Given the description of an element on the screen output the (x, y) to click on. 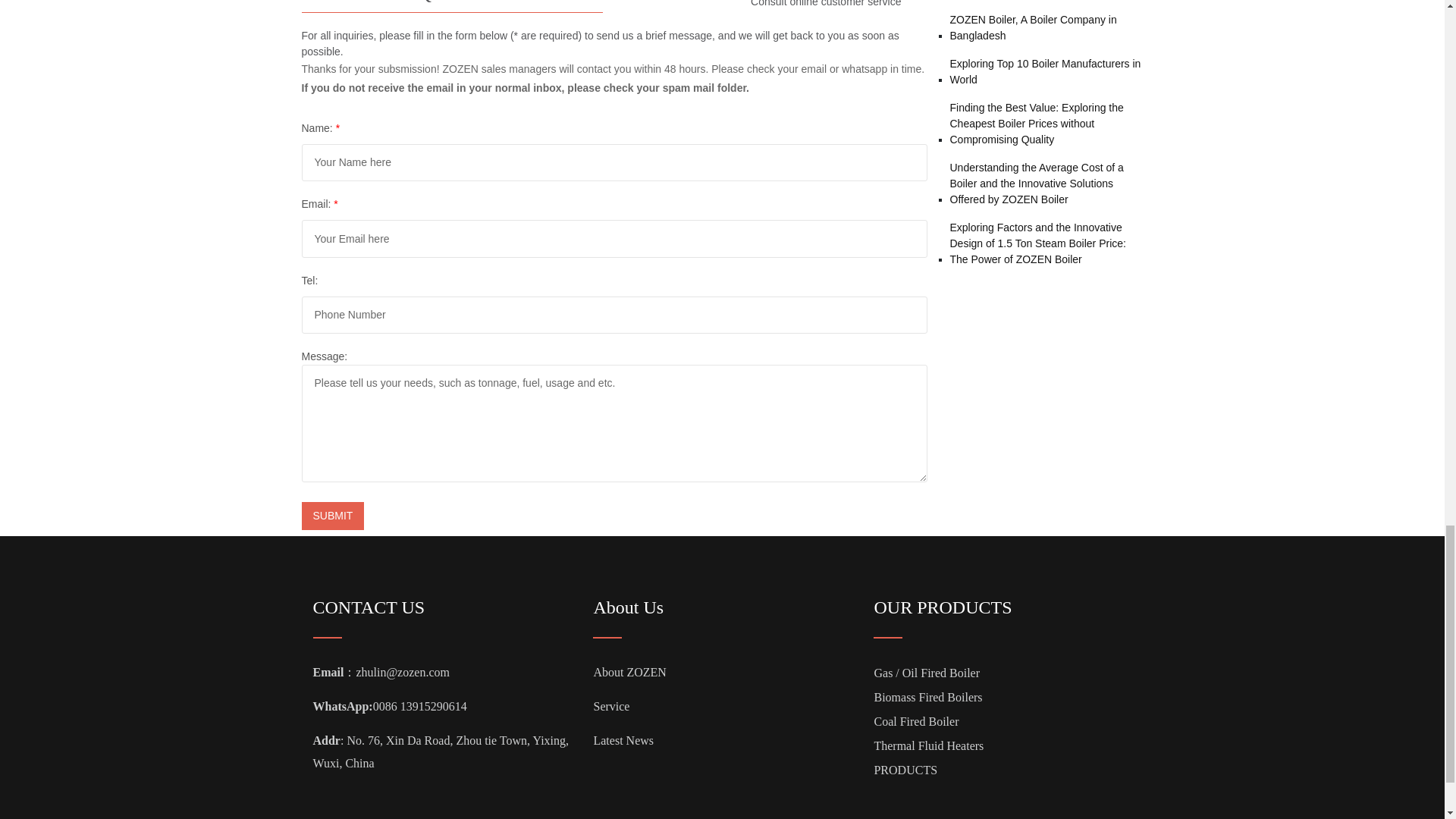
Consult online customer service (822, 2)
SUBMIT (333, 515)
Exploring Top 10 Boiler Manufacturers in World (1045, 71)
Please enter your phone number (614, 314)
ZOZEN Boiler, A Boiler Company in Bangladesh (1045, 28)
SUBMIT (333, 515)
